Given the description of an element on the screen output the (x, y) to click on. 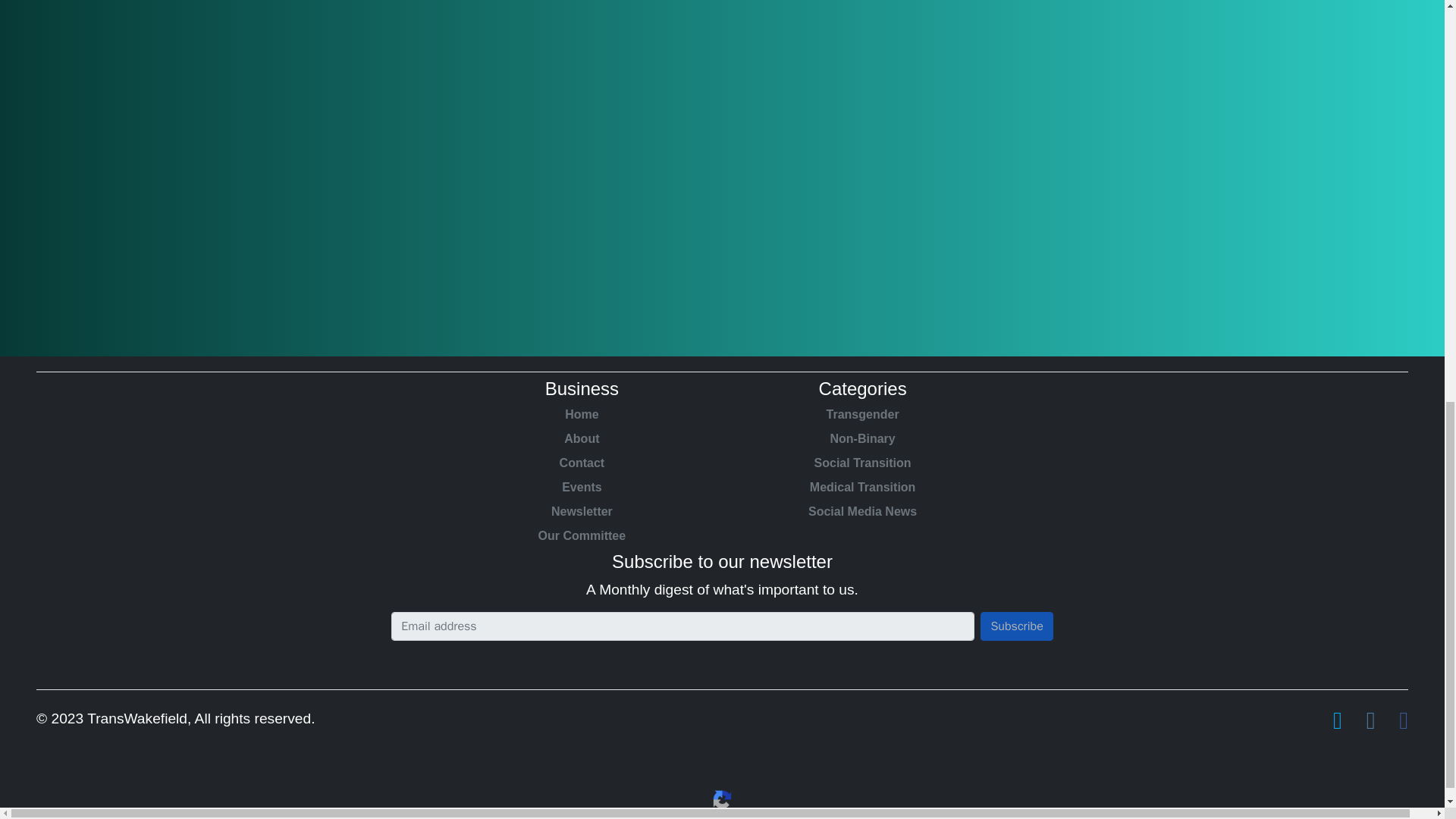
Our Committee (581, 536)
About (581, 438)
Contact (581, 463)
Events (581, 487)
Social Transition (862, 463)
Home (581, 414)
Non-Binary (862, 438)
Transgender (862, 414)
Newsletter (581, 511)
